Given the description of an element on the screen output the (x, y) to click on. 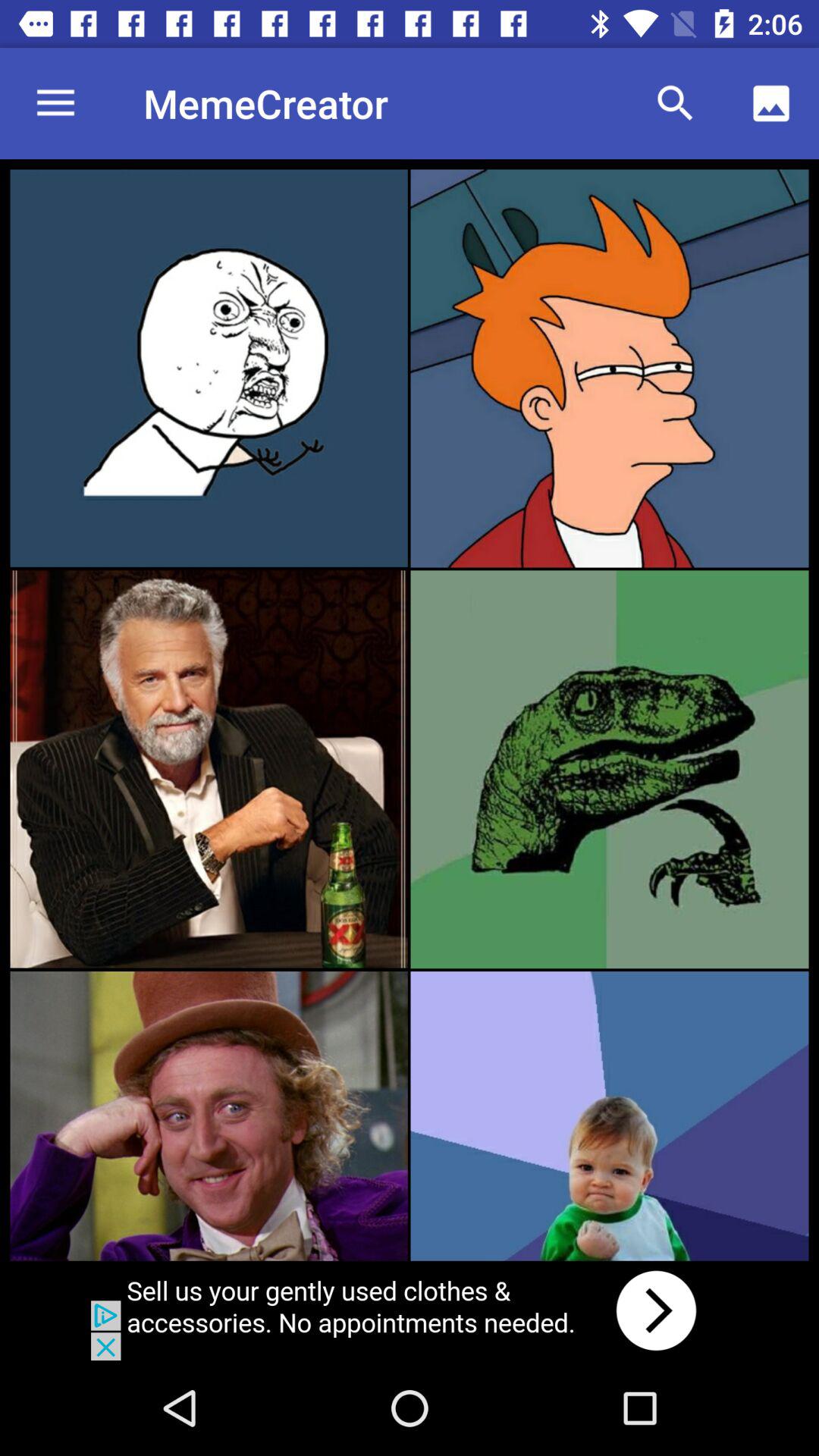
click on advertisement (409, 1310)
